Given the description of an element on the screen output the (x, y) to click on. 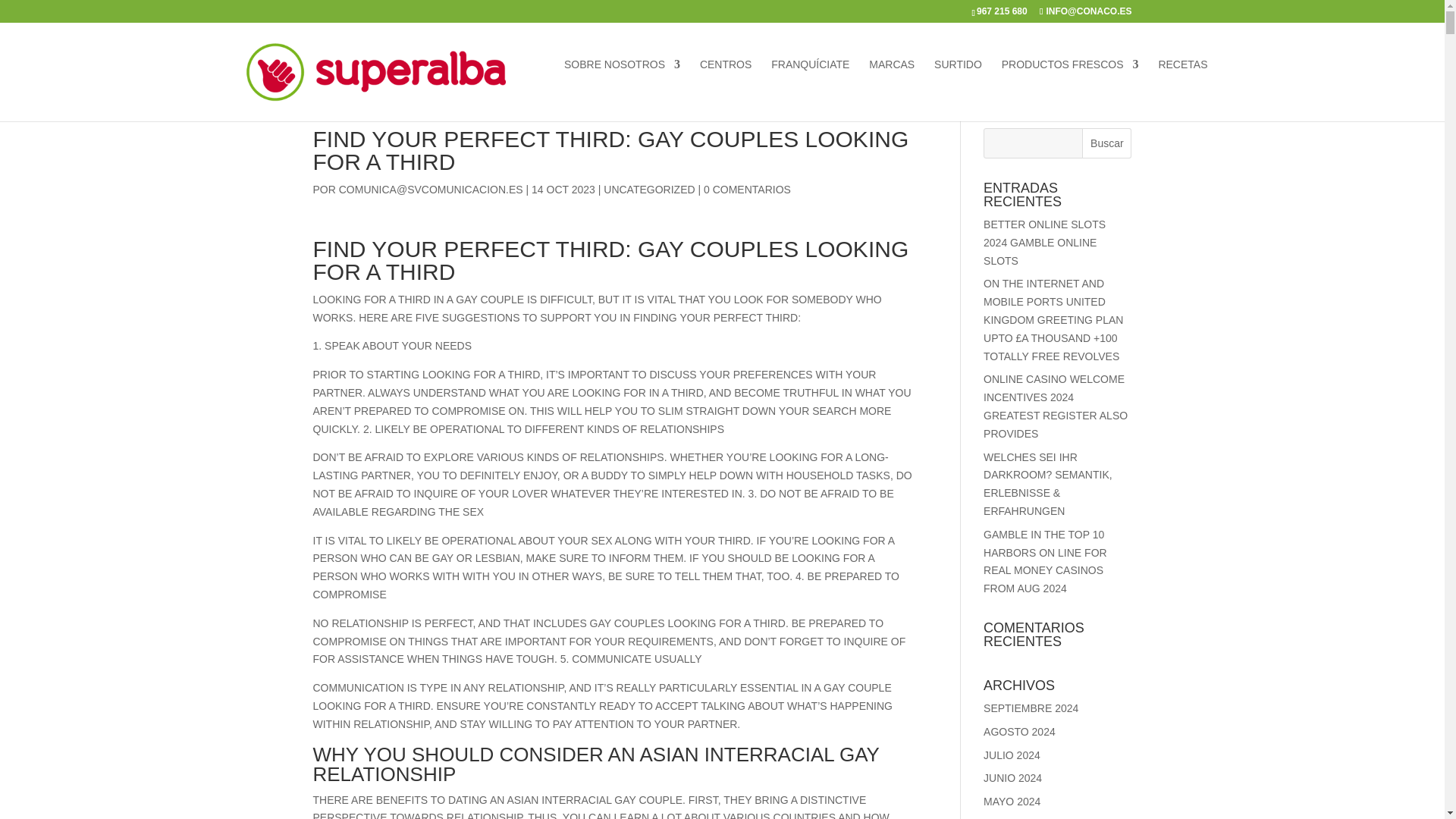
UNCATEGORIZED (649, 189)
SURTIDO (957, 82)
MARCAS (891, 82)
BETTER ONLINE SLOTS 2024 GAMBLE ONLINE SLOTS (1044, 242)
MAYO 2024 (1012, 801)
AGOSTO 2024 (1019, 731)
JULIO 2024 (1012, 755)
RECETAS (1182, 82)
